Given the description of an element on the screen output the (x, y) to click on. 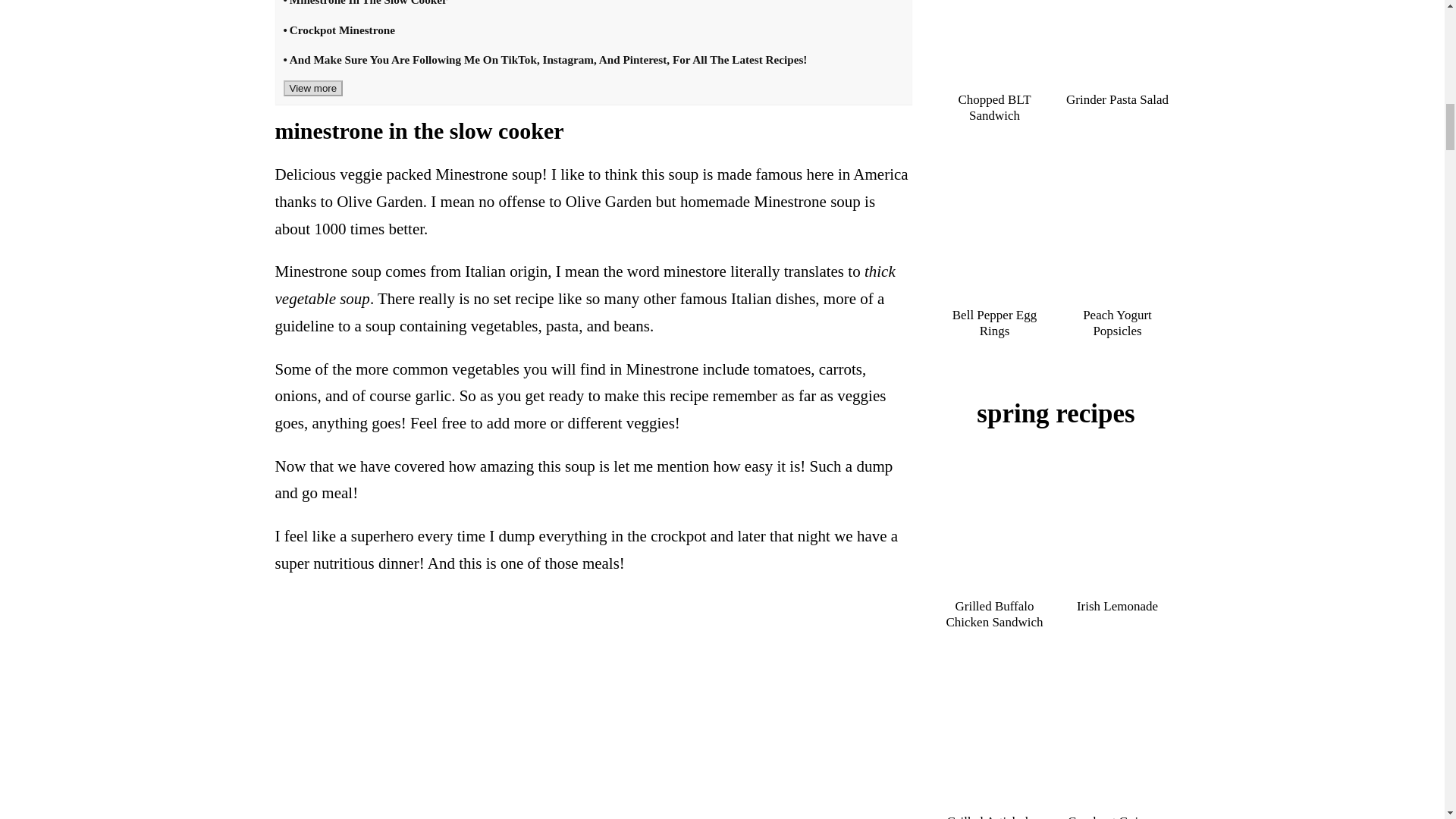
Crockpot Minestrone (338, 35)
